Given the description of an element on the screen output the (x, y) to click on. 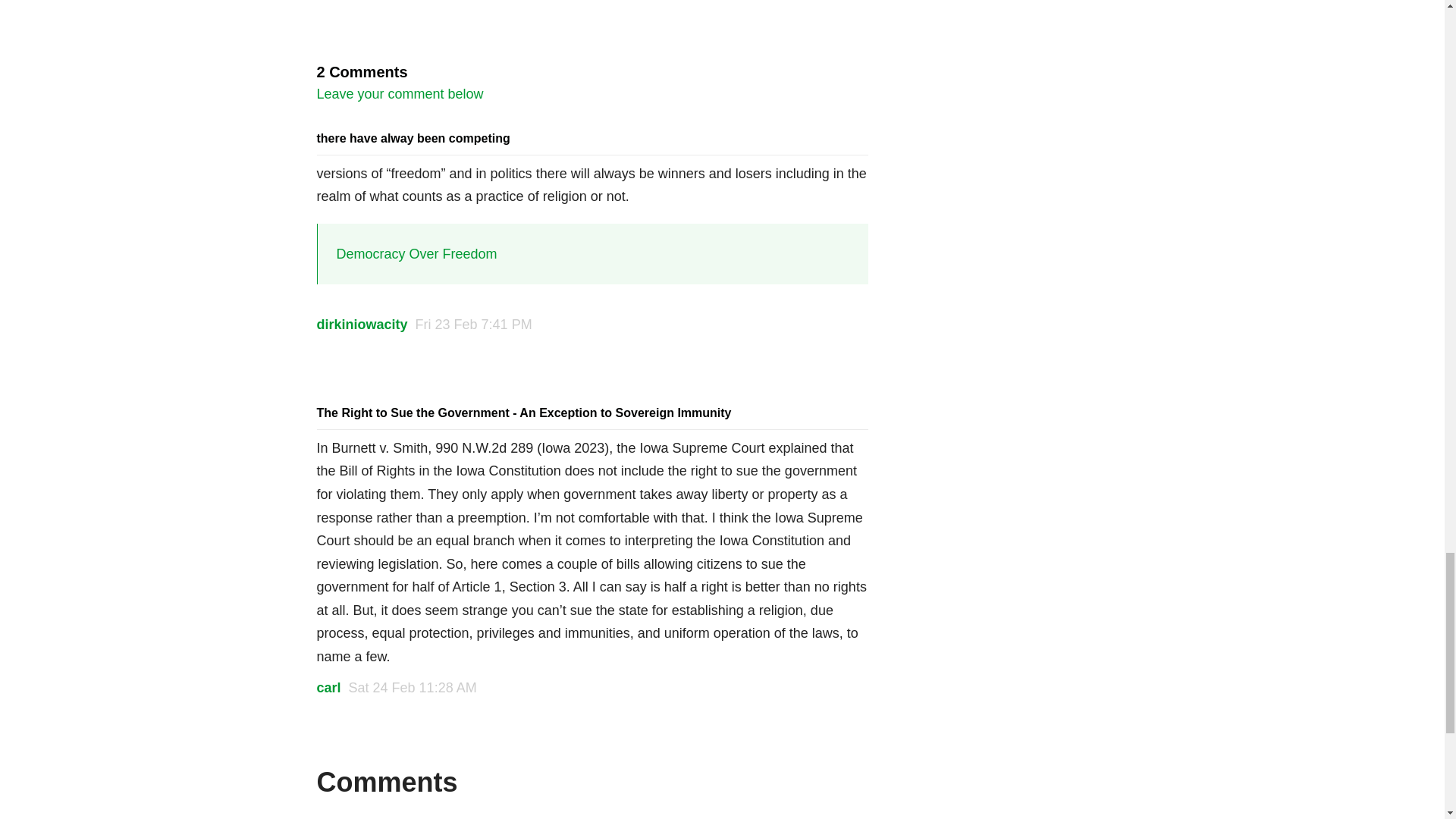
Fri 23 Feb 7:41 PM (473, 324)
Leave your comment below (400, 93)
carl (328, 687)
Comment Permalink (413, 687)
Sat 24 Feb 11:28 AM (413, 687)
dirkiniowacity (362, 324)
Democracy Over Freedom (416, 253)
Comment Permalink (473, 324)
logged in (423, 817)
